Given the description of an element on the screen output the (x, y) to click on. 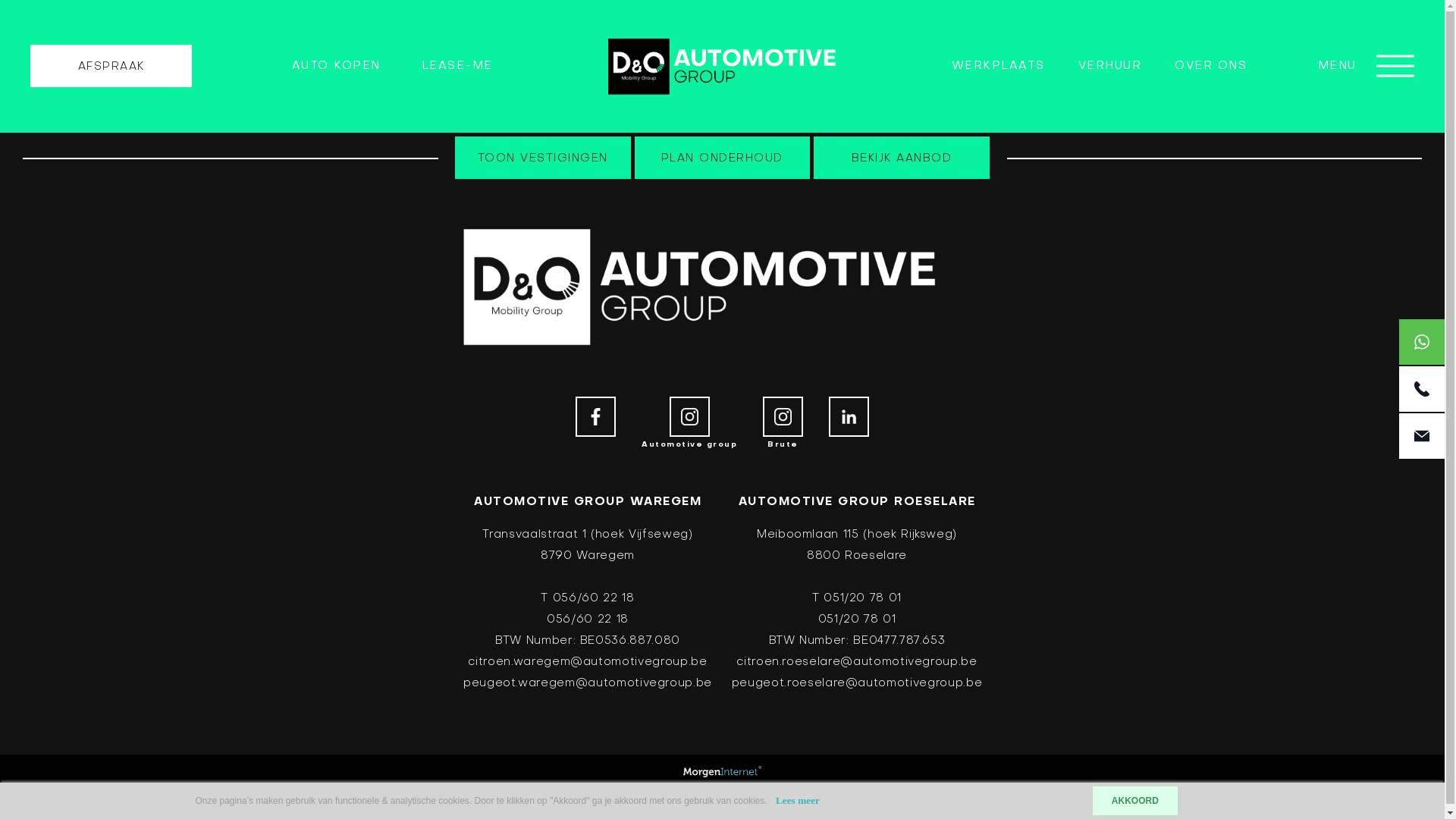
T 051/20 78 01
051/20 78 01 Element type: text (856, 608)
OVER ONS Element type: text (1210, 65)
AUTO KOPEN Element type: text (336, 66)
Lees meer Element type: text (797, 800)
peugeot.roeselare@automotivegroup.be Element type: text (856, 682)
T 056/60 22 18
056/60 22 18 Element type: text (586, 608)
peugeot.waregem@automotivegroup.be Element type: text (587, 682)
citroen.waregem@automotivegroup.be Element type: text (586, 661)
LEASE-ME Element type: text (456, 65)
WERKPLAATS Element type: text (997, 65)
BEKIJK AANBOD Element type: text (901, 157)
AFSPRAAK Element type: text (110, 65)
AKKOORD Element type: text (1134, 800)
PLAN ONDERHOUD Element type: text (722, 157)
VERHUUR Element type: text (1110, 65)
citroen.roeselare@automotivegroup.be Element type: text (856, 661)
TOON VESTIGINGEN Element type: text (542, 157)
